Given the description of an element on the screen output the (x, y) to click on. 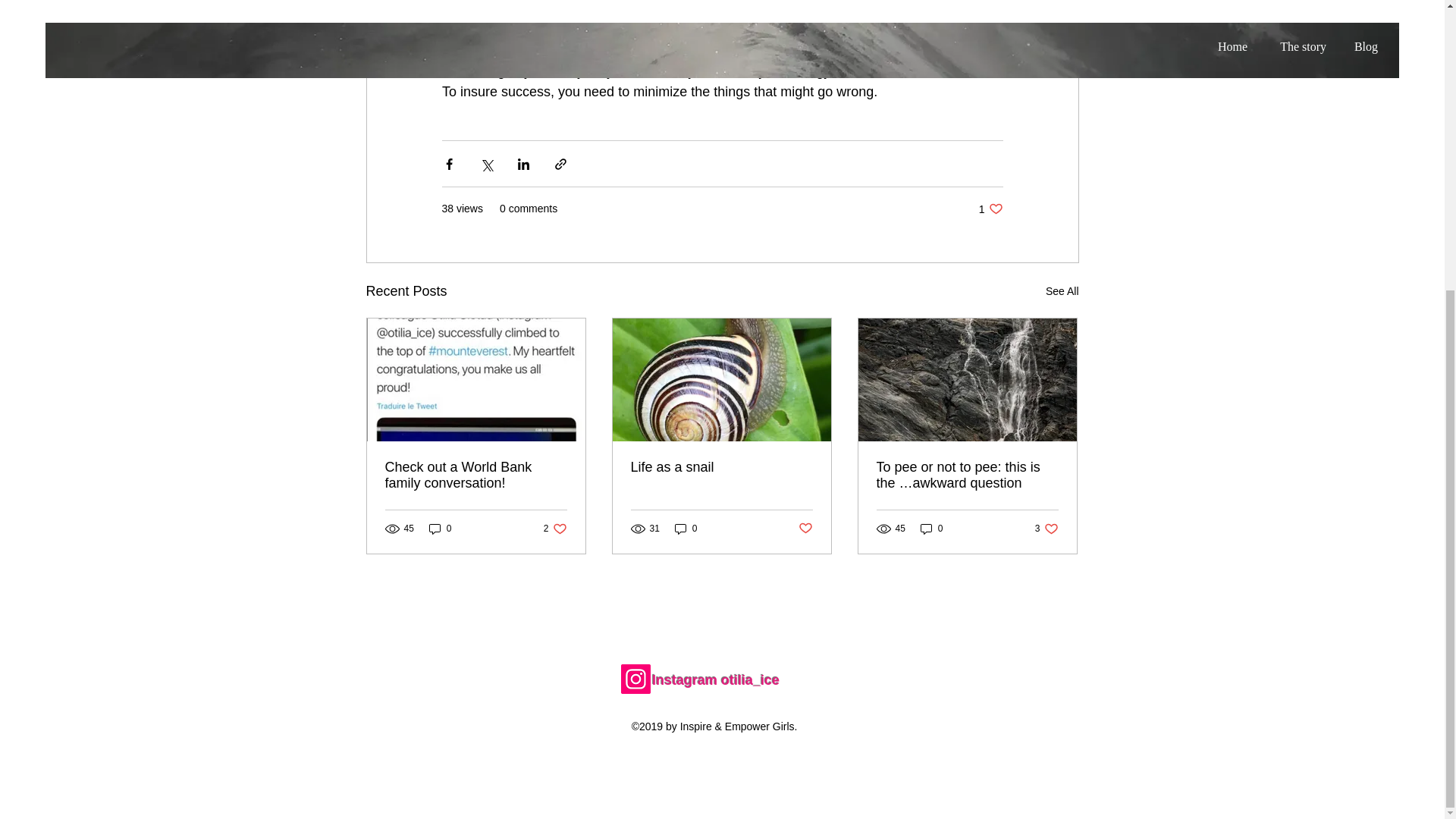
Life as a snail (721, 467)
Check out a World Bank family conversation! (476, 475)
0 (440, 528)
Post not marked as liked (990, 208)
0 (804, 528)
See All (685, 528)
0 (1061, 291)
